Given the description of an element on the screen output the (x, y) to click on. 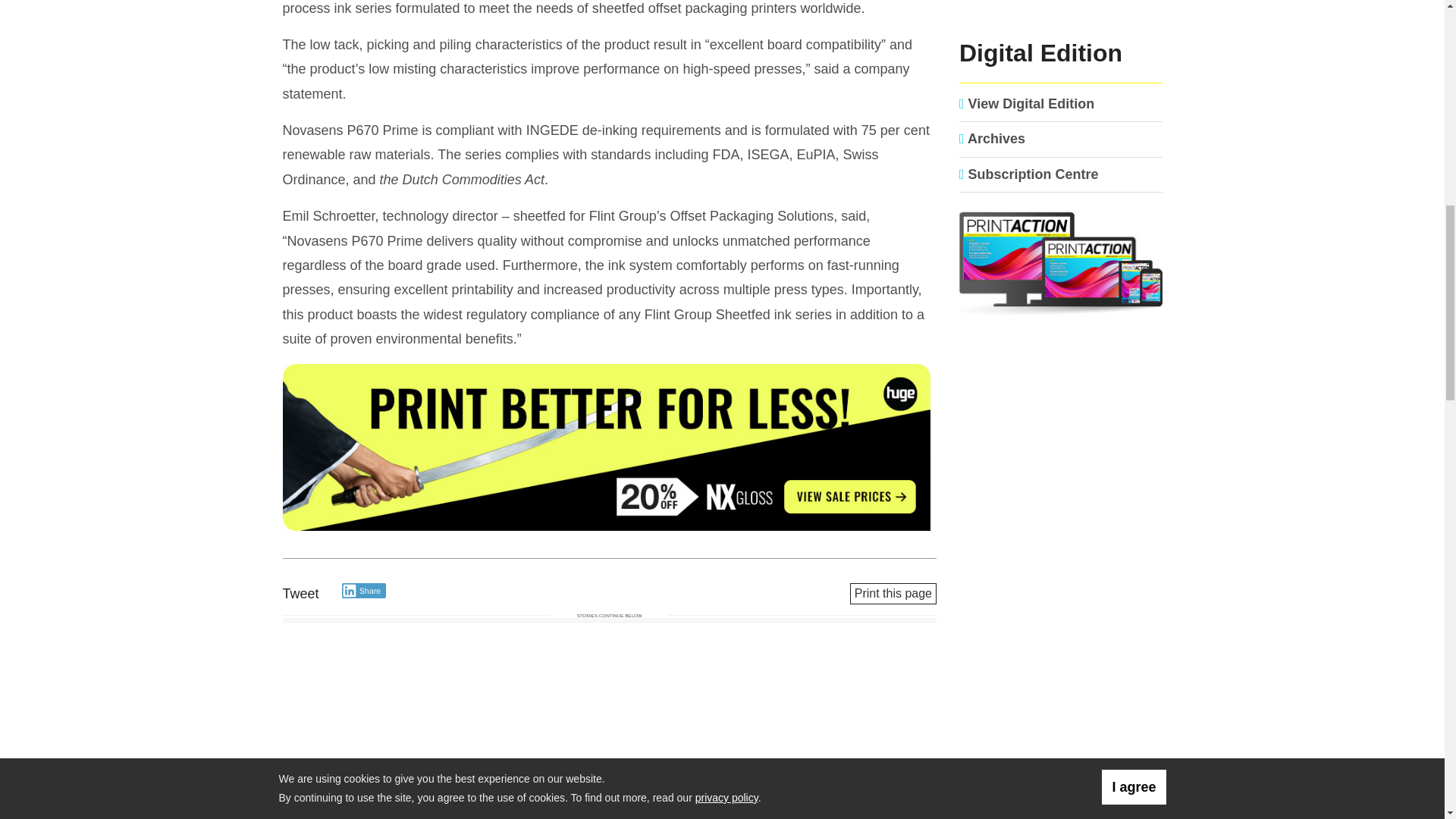
3rd party ad content (1060, 438)
3rd party ad content (1060, 635)
3rd party ad content (609, 448)
3rd party ad content (1060, 778)
3rd party ad content (1060, 12)
